Given the description of an element on the screen output the (x, y) to click on. 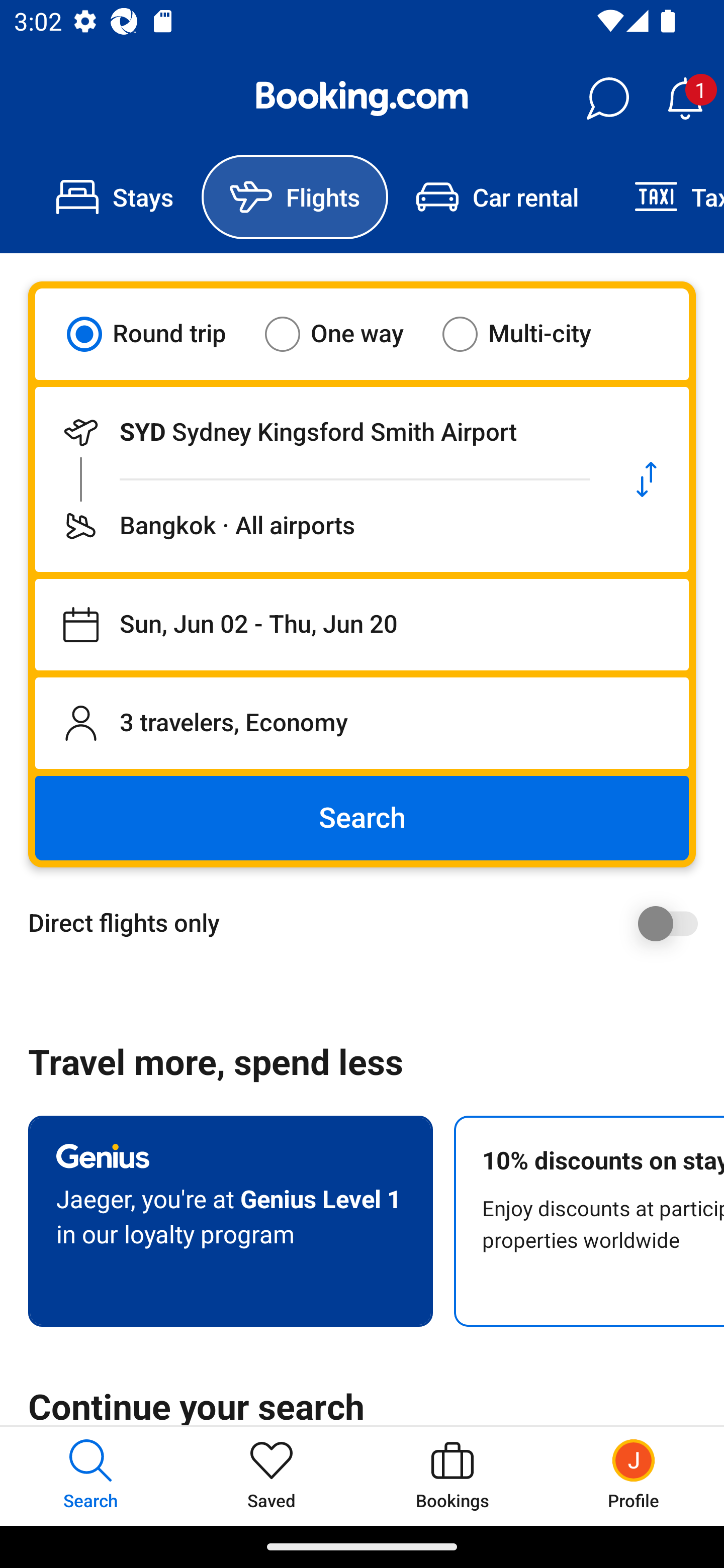
Messages (607, 98)
Notifications (685, 98)
Stays (114, 197)
Flights (294, 197)
Car rental (497, 197)
Taxi (665, 197)
One way (346, 333)
Multi-city (528, 333)
Departing from SYD Sydney Kingsford Smith Airport (319, 432)
Swap departure location and destination (646, 479)
Flying to Bangkok · All airports (319, 525)
Departing on Sun, Jun 02, returning on Thu, Jun 20 (361, 624)
3 travelers, Economy (361, 722)
Search (361, 818)
Direct flights only (369, 923)
Saved (271, 1475)
Bookings (452, 1475)
Profile (633, 1475)
